Given the description of an element on the screen output the (x, y) to click on. 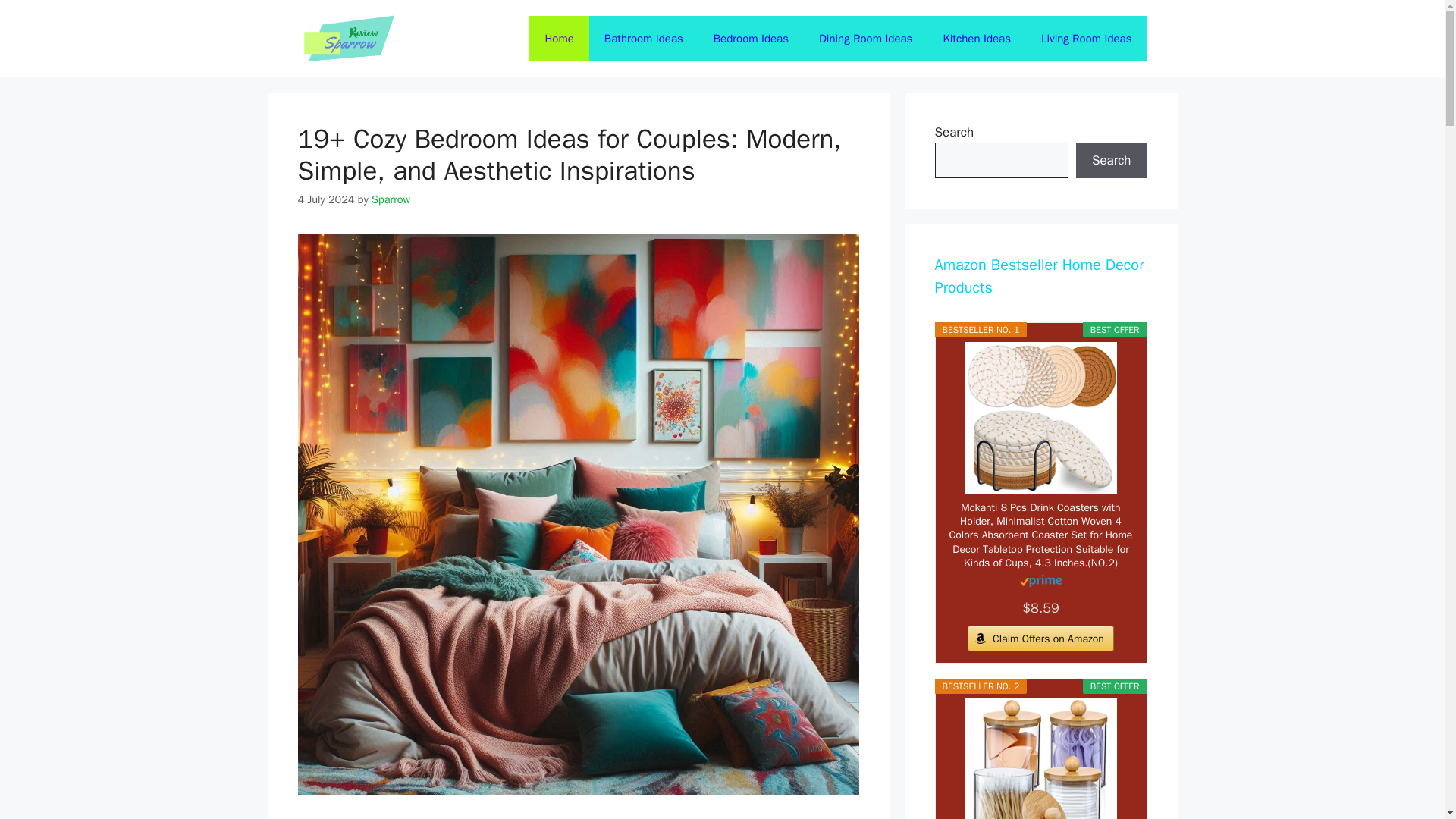
View all posts by Sparrow (390, 199)
Dining Room Ideas (865, 38)
Bathroom Ideas (643, 38)
Home (558, 38)
Bedroom Ideas (750, 38)
Sparrow (390, 199)
Living Room Ideas (1086, 38)
Kitchen Ideas (976, 38)
